Given the description of an element on the screen output the (x, y) to click on. 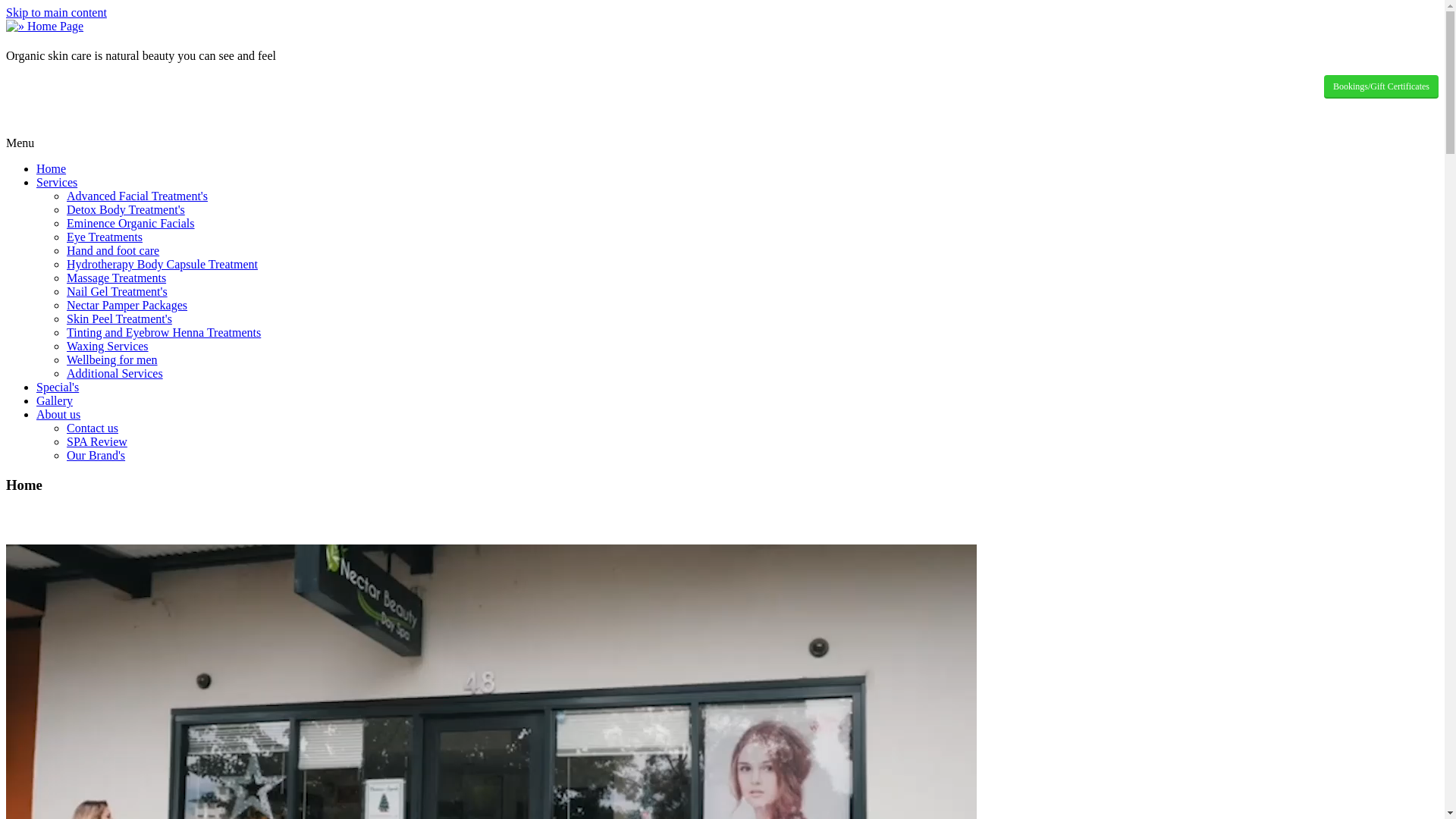
Additional Services Element type: text (114, 373)
Wellbeing for men Element type: text (111, 359)
About us Element type: text (58, 413)
Our Brand's Element type: text (95, 454)
Services Element type: text (56, 181)
Massage Treatments Element type: text (116, 277)
Skin Peel Treatment's Element type: text (119, 318)
Hand and foot care Element type: text (112, 250)
Special's Element type: text (57, 386)
Tinting and Eyebrow Henna Treatments Element type: text (163, 332)
Waxing Services Element type: text (107, 345)
Advanced Facial Treatment's Element type: text (136, 195)
Eminence Organic Facials Element type: text (130, 222)
Skip to main content Element type: text (56, 12)
Eye Treatments Element type: text (104, 236)
Detox Body Treatment's Element type: text (125, 209)
Nail Gel Treatment's Element type: text (116, 291)
Bookings/Gift Certificates Element type: text (1381, 86)
Contact us Element type: text (92, 427)
Hydrotherapy Body Capsule Treatment Element type: text (161, 263)
Gallery Element type: text (54, 400)
Nectar Pamper Packages Element type: text (126, 304)
Home Element type: text (50, 168)
SPA Review Element type: text (96, 441)
